Given the description of an element on the screen output the (x, y) to click on. 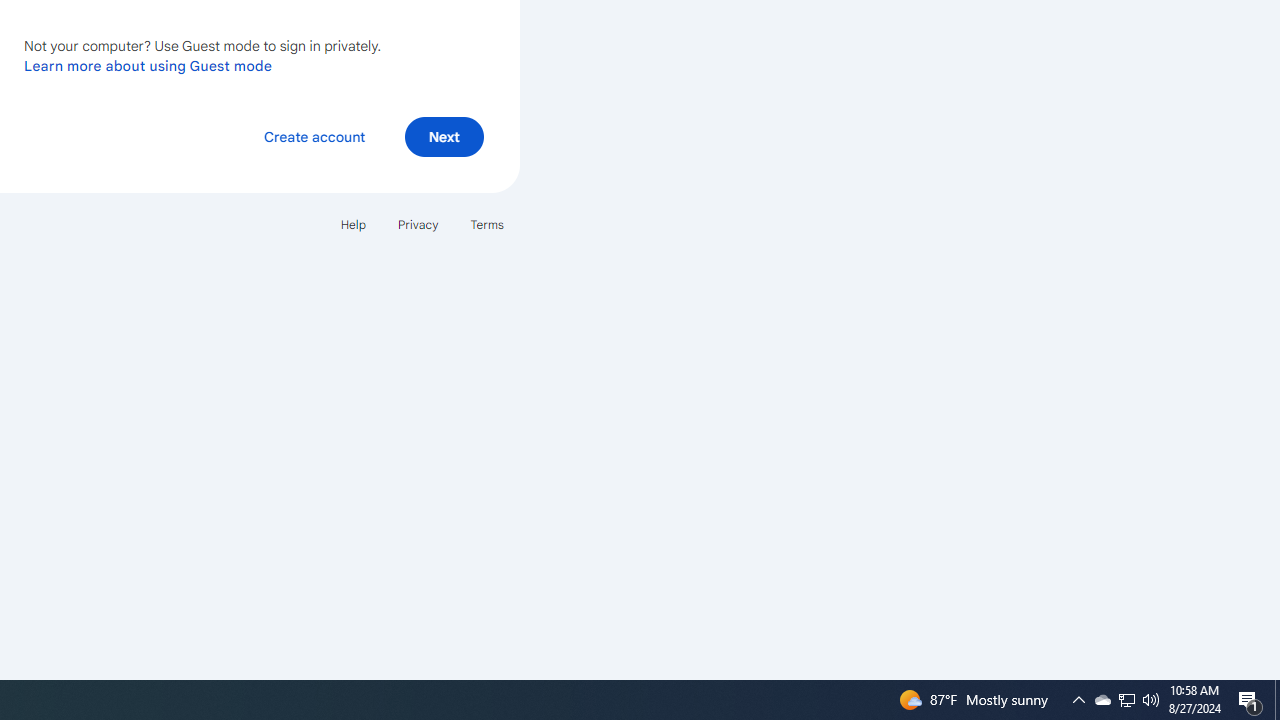
Next (443, 135)
Create account (314, 135)
Learn more about using Guest mode (148, 65)
